Given the description of an element on the screen output the (x, y) to click on. 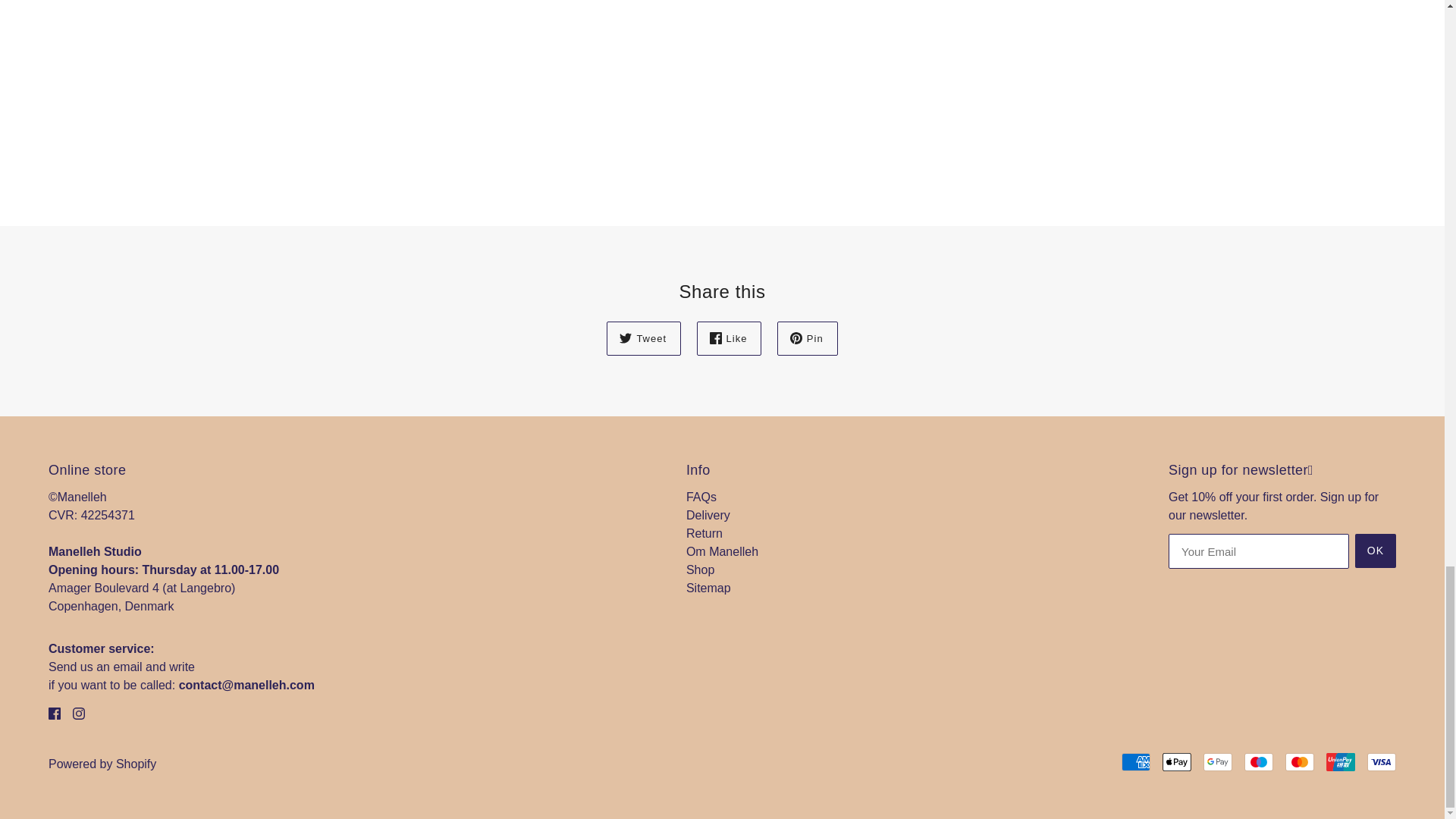
Maestro (1258, 761)
Union Pay (1340, 761)
Google Pay (1217, 761)
American Express (1135, 761)
Delivery (707, 514)
Om Manelleh (721, 551)
Sitemap (707, 587)
Mastercard (1299, 761)
Shop (699, 569)
FAQs (700, 496)
